Given the description of an element on the screen output the (x, y) to click on. 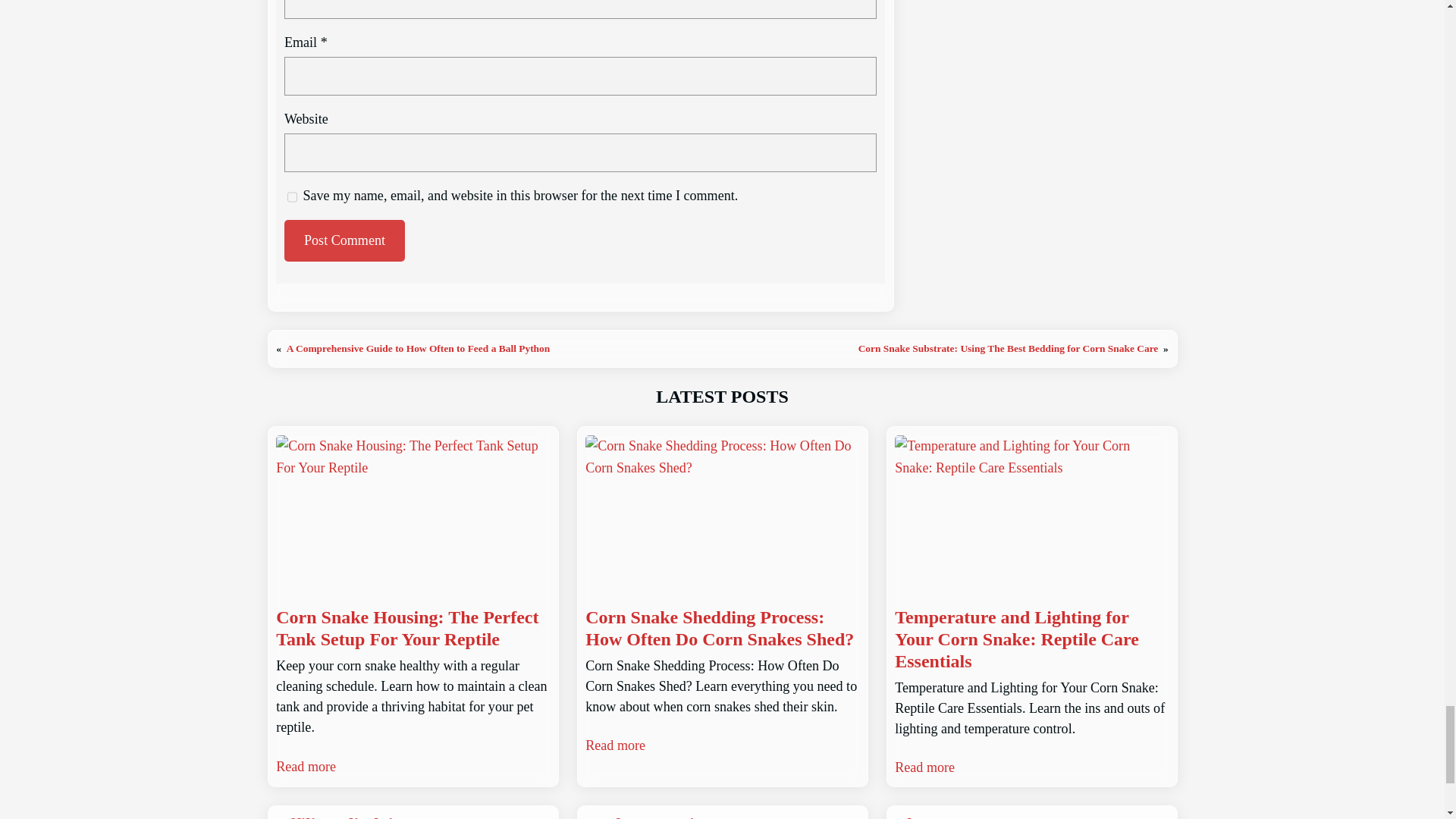
A Comprehensive Guide to How Often to Feed a Ball Python (418, 348)
Read more (615, 745)
Corn Snake Housing: The Perfect Tank Setup For Your Reptile (413, 628)
Post Comment (343, 240)
Post Comment (343, 240)
Corn Snake Shedding Process: How Often Do Corn Snakes Shed? (722, 628)
Read more (306, 766)
Read more (925, 767)
